Given the description of an element on the screen output the (x, y) to click on. 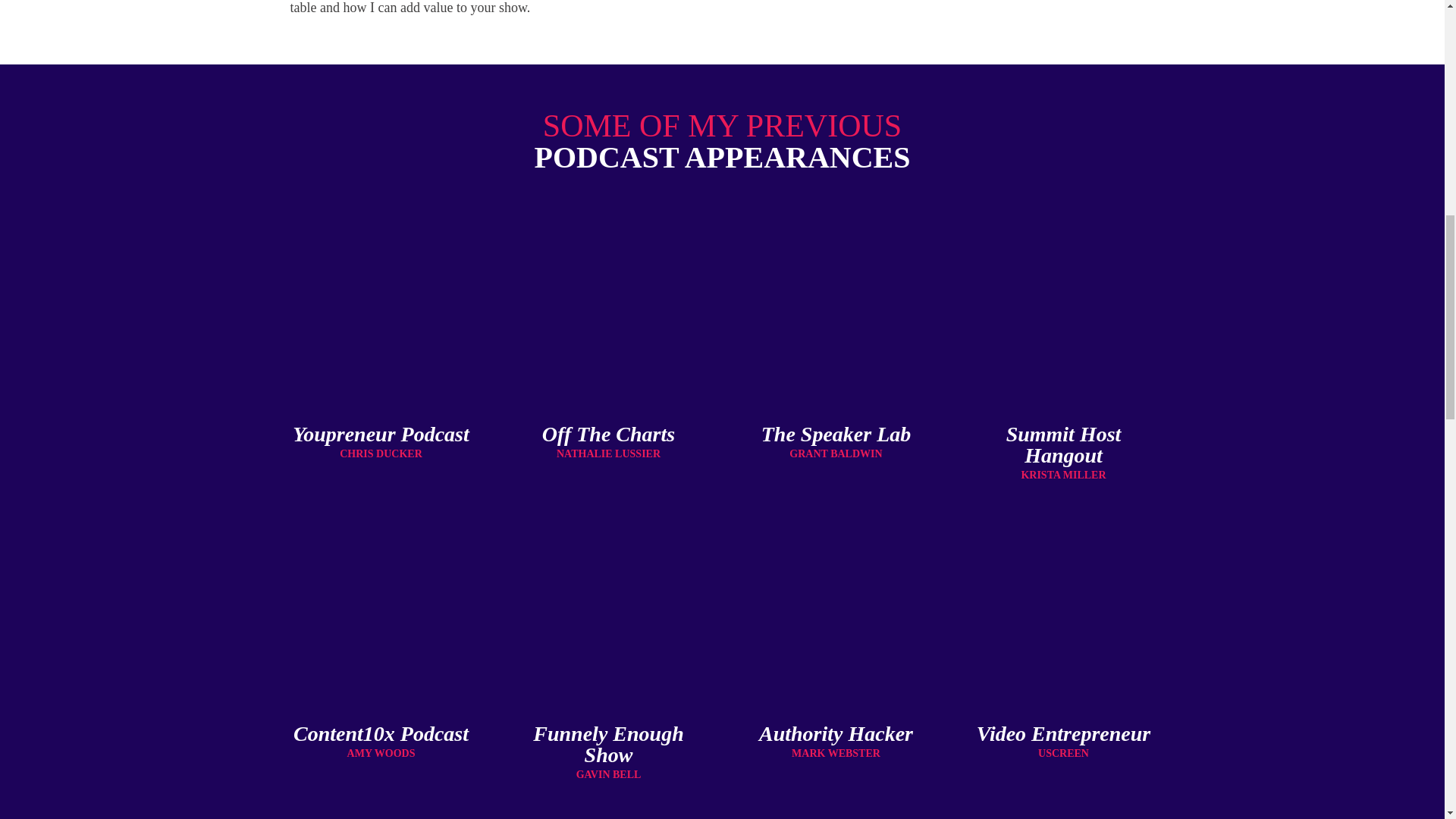
Youpreneur Podcast (380, 433)
Authority Hacker (835, 733)
The Speaker Lab (836, 433)
Video Entrepreneur (1063, 733)
Summit Host Hangout (1063, 444)
Content10x Podcast (381, 733)
Off The Charts (608, 433)
Funnely Enough Show (607, 743)
